Given the description of an element on the screen output the (x, y) to click on. 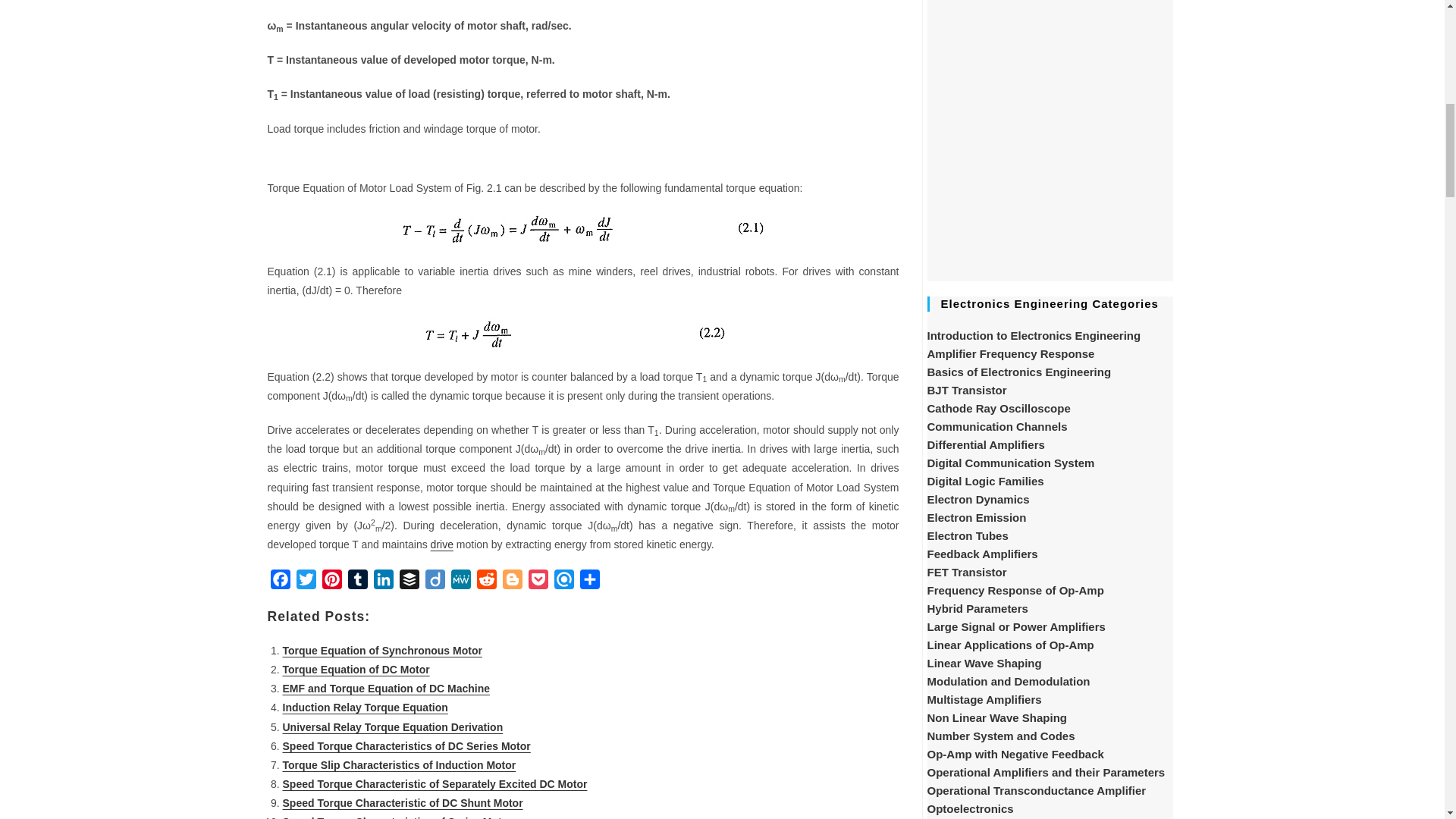
Reddit (486, 582)
Buffer (409, 582)
Pocket (537, 582)
MeWe (459, 582)
Blogger (511, 582)
Diigo (434, 582)
Pinterest (330, 582)
Facebook (279, 582)
Twitter (305, 582)
LinkedIn (382, 582)
